Given the description of an element on the screen output the (x, y) to click on. 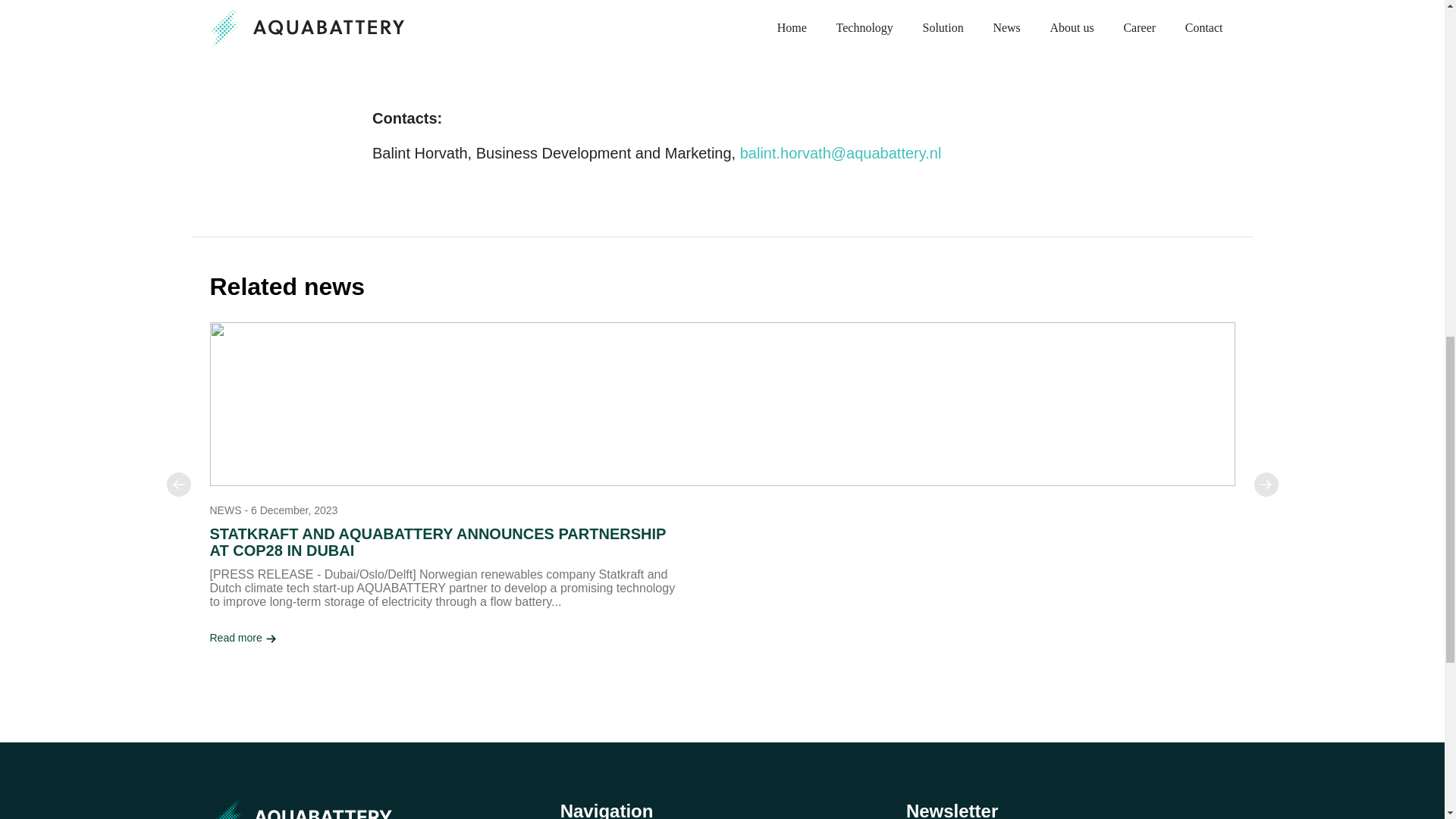
logo-white (311, 809)
NEWS (225, 510)
Read more (242, 637)
